Given the description of an element on the screen output the (x, y) to click on. 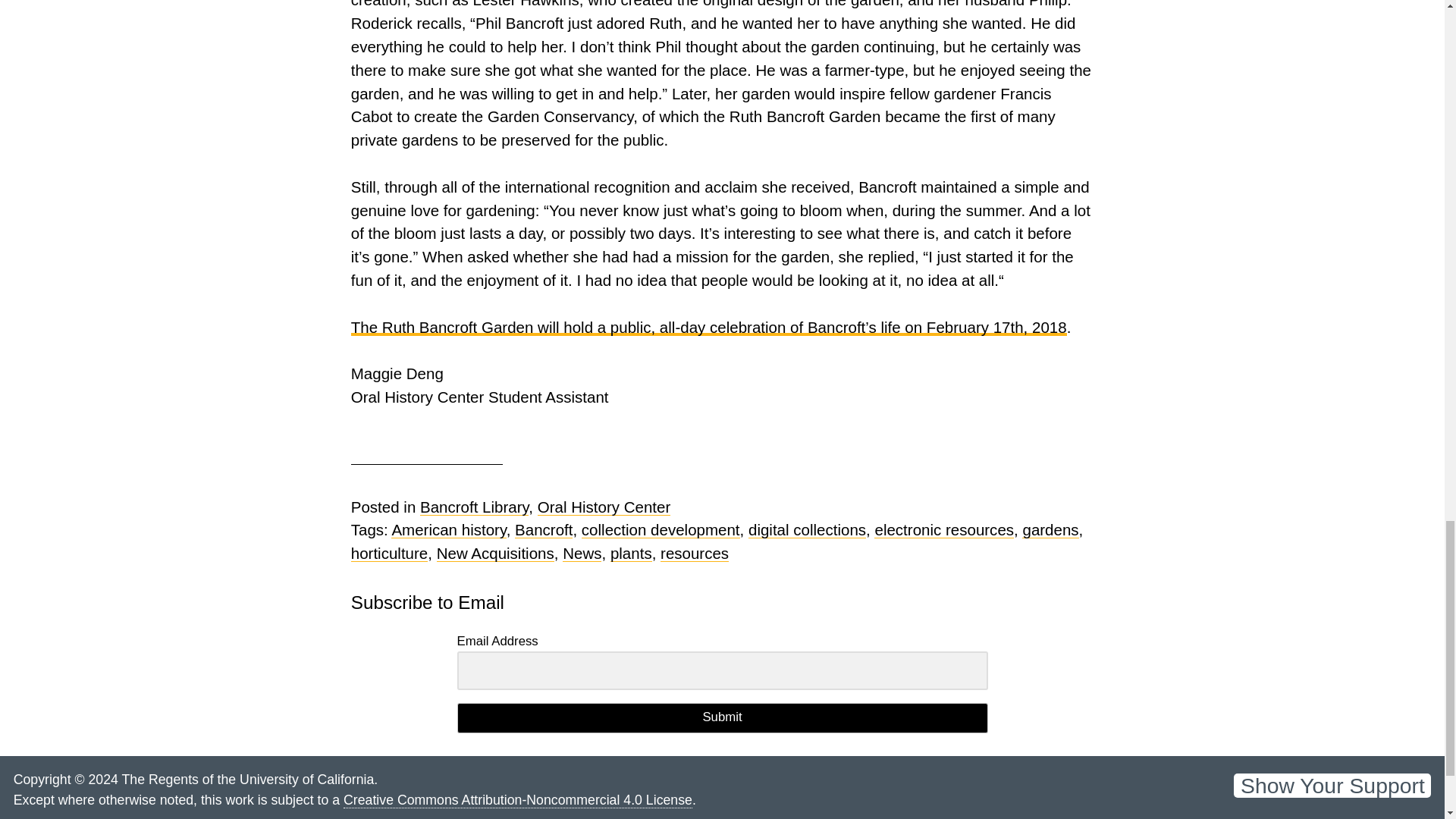
electronic resources (944, 529)
gardens (1050, 529)
collection development (659, 529)
Bancroft Library (474, 506)
American history (448, 529)
digital collections (807, 529)
New Acquisitions (495, 552)
horticulture (389, 552)
News (581, 552)
Bancroft (543, 529)
Oral History Center (604, 506)
